Given the description of an element on the screen output the (x, y) to click on. 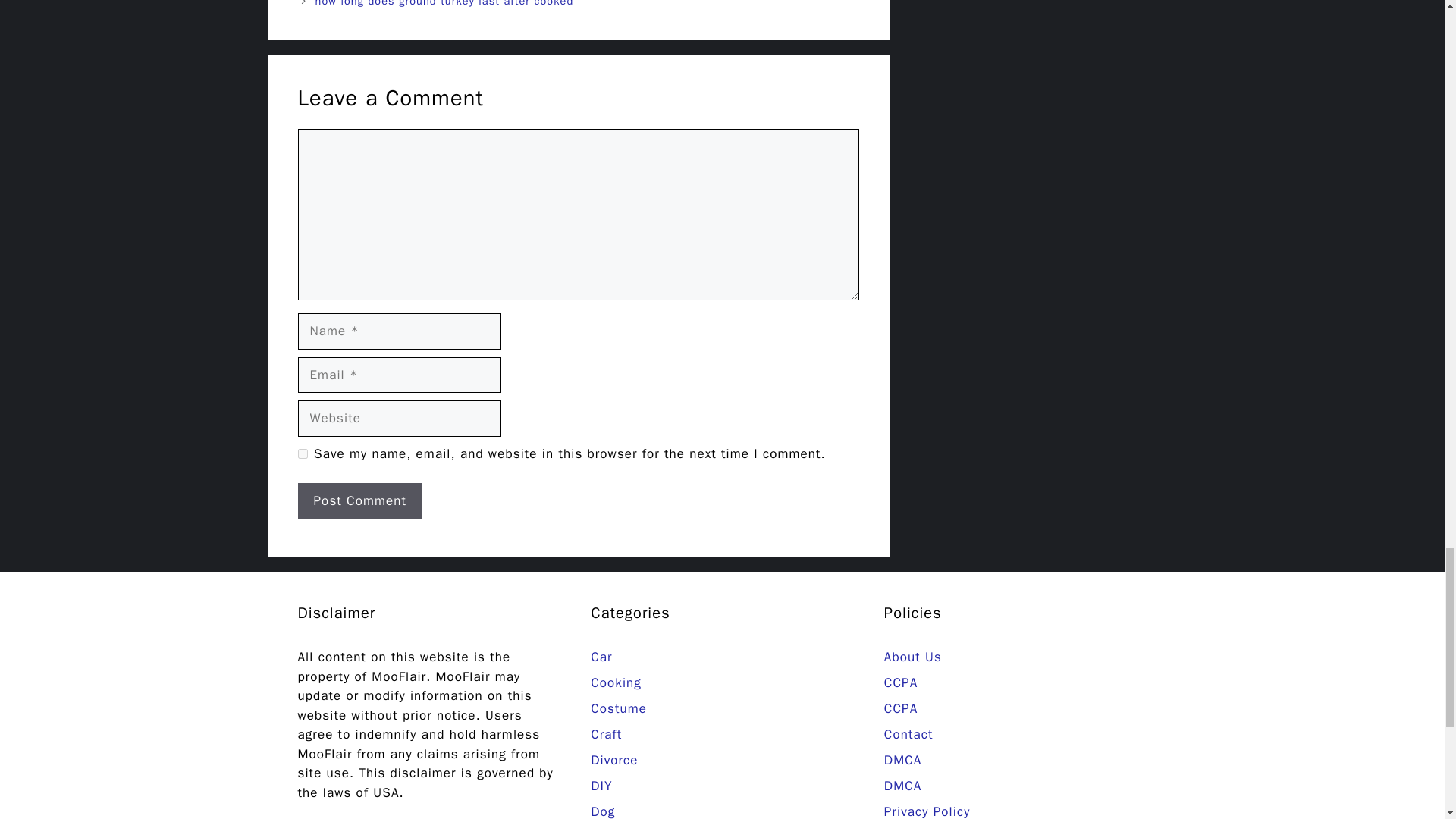
Post Comment (359, 501)
Post Comment (359, 501)
how long does ground turkey last after cooked (444, 3)
yes (302, 453)
